Given the description of an element on the screen output the (x, y) to click on. 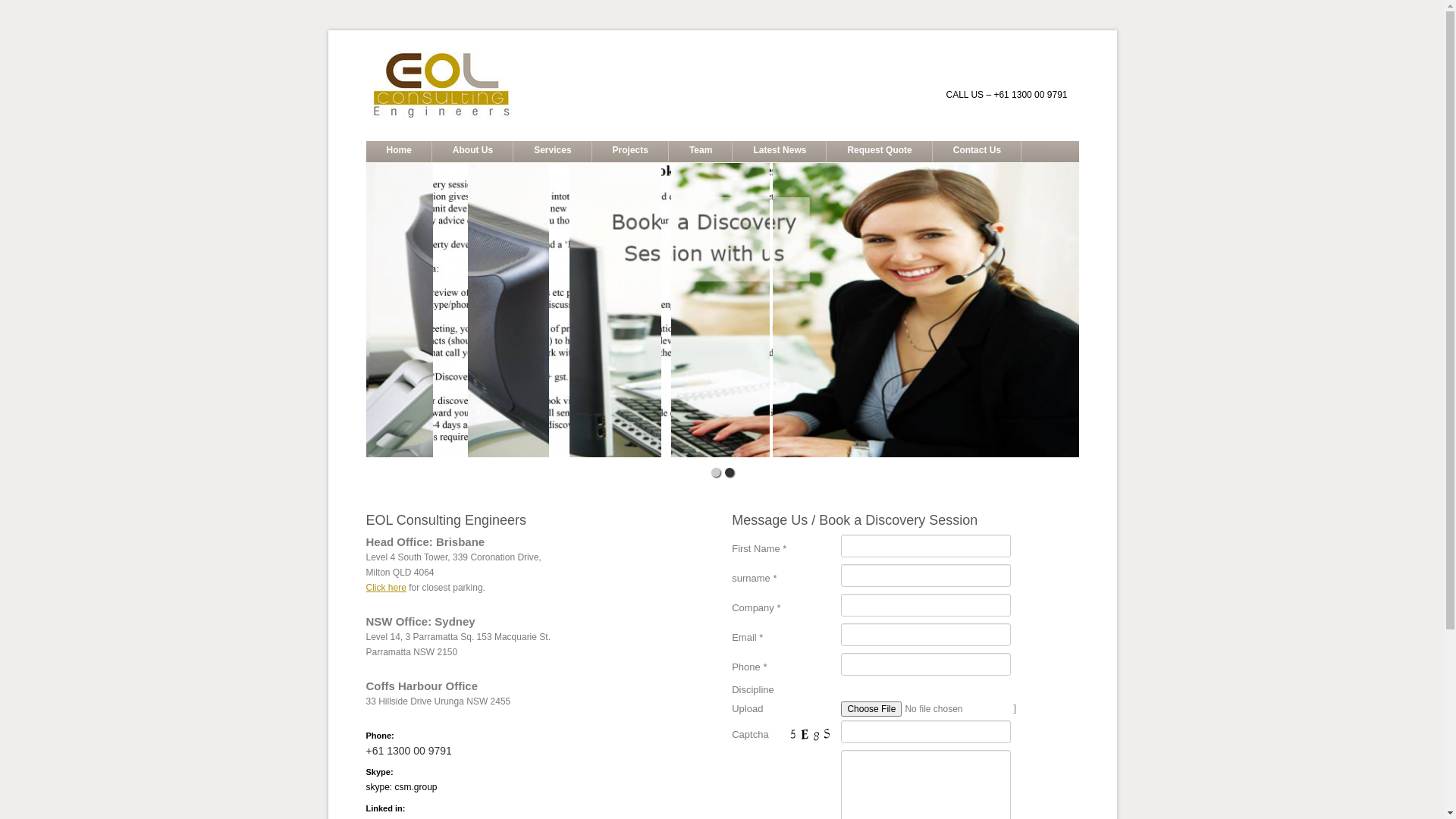
Home Element type: text (397, 151)
Services Element type: text (551, 151)
Request Quote Element type: text (878, 151)
Team Element type: text (699, 151)
+61 1300 00 9791 Element type: text (408, 750)
Latest News Element type: text (778, 151)
Click here Element type: text (385, 587)
Contact Us Element type: text (976, 151)
Projects Element type: text (630, 151)
About Us Element type: text (472, 151)
